Given the description of an element on the screen output the (x, y) to click on. 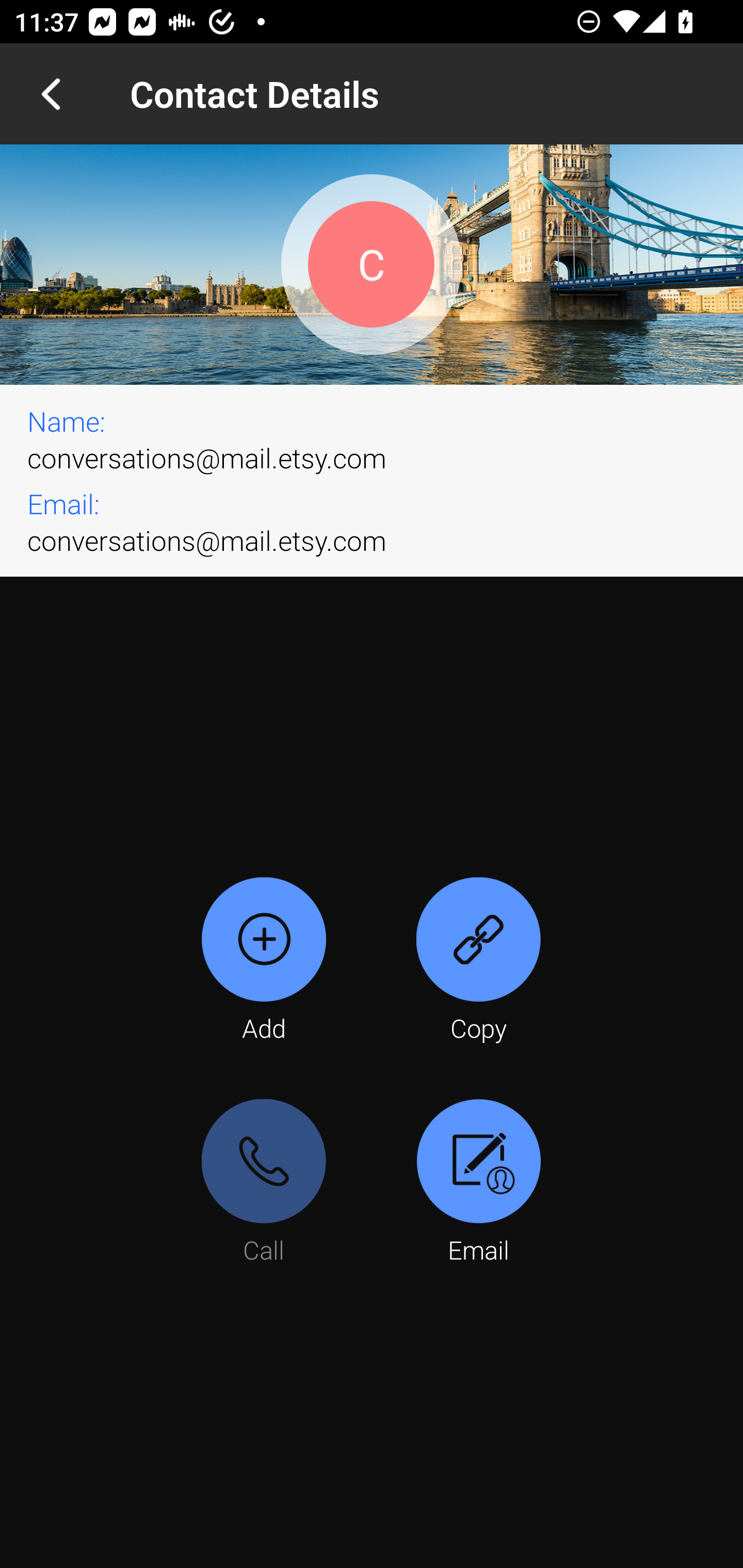
Navigate up (50, 93)
Add (264, 961)
Copy (478, 961)
Call (264, 1182)
Email (478, 1182)
